Given the description of an element on the screen output the (x, y) to click on. 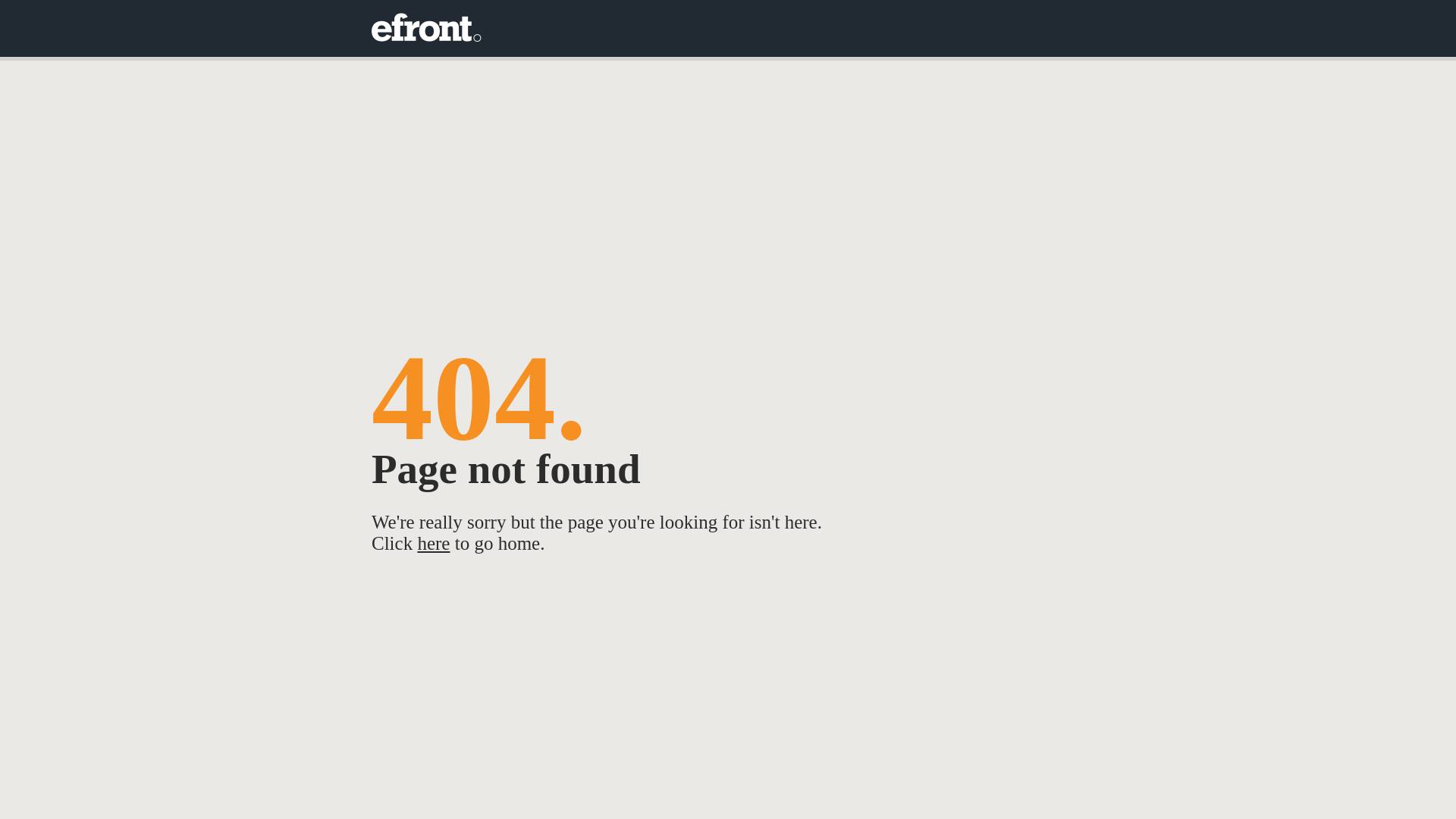
Efront Element type: text (426, 28)
here Element type: text (433, 543)
